Given the description of an element on the screen output the (x, y) to click on. 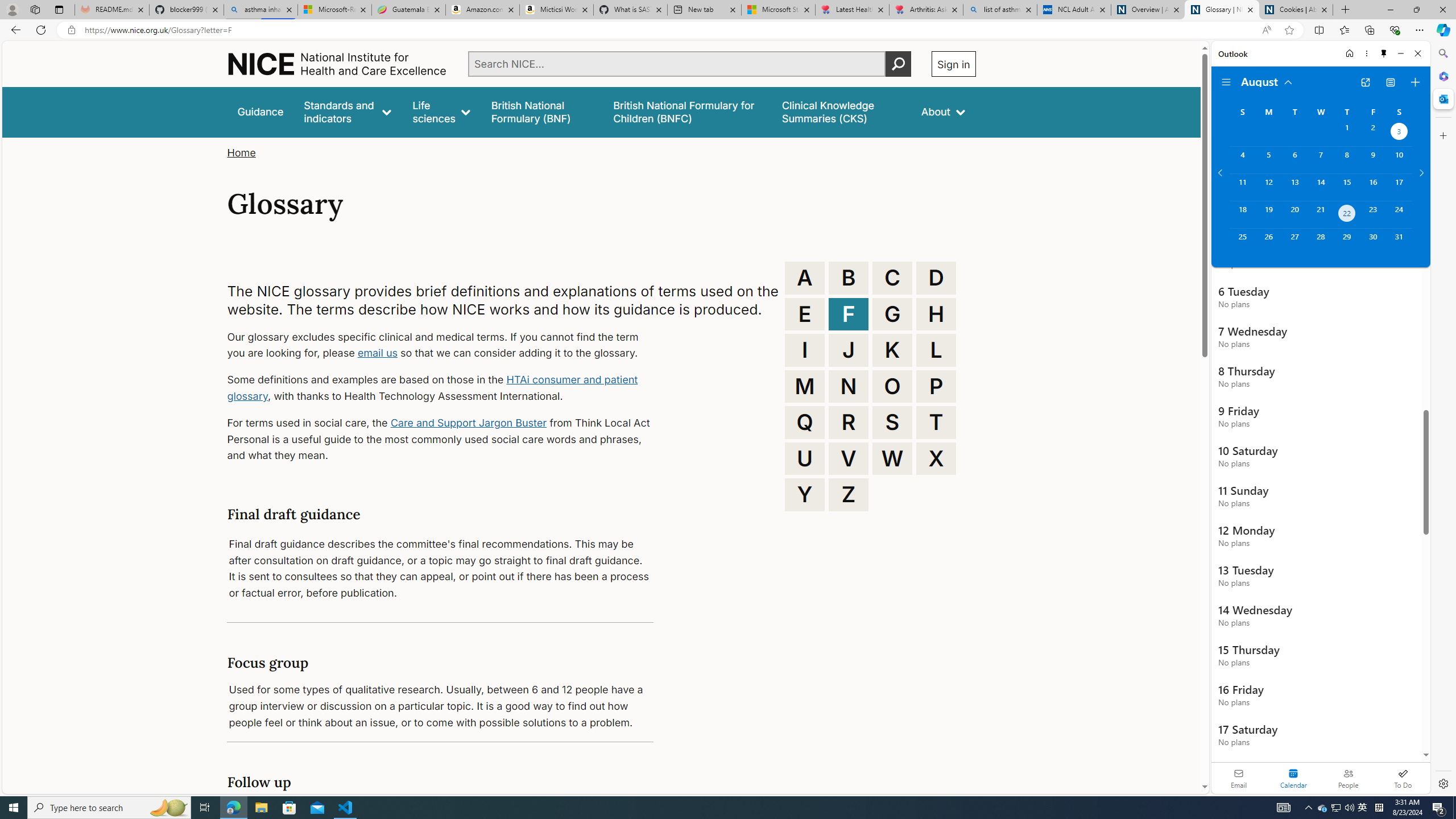
Tuesday, August 27, 2024.  (1294, 241)
Monday, August 12, 2024.  (1268, 186)
Perform search (898, 63)
N (848, 385)
Q (804, 422)
Tuesday, August 20, 2024.  (1294, 214)
HTAi consumer and patient glossary (432, 387)
T (935, 422)
V (848, 458)
